Given the description of an element on the screen output the (x, y) to click on. 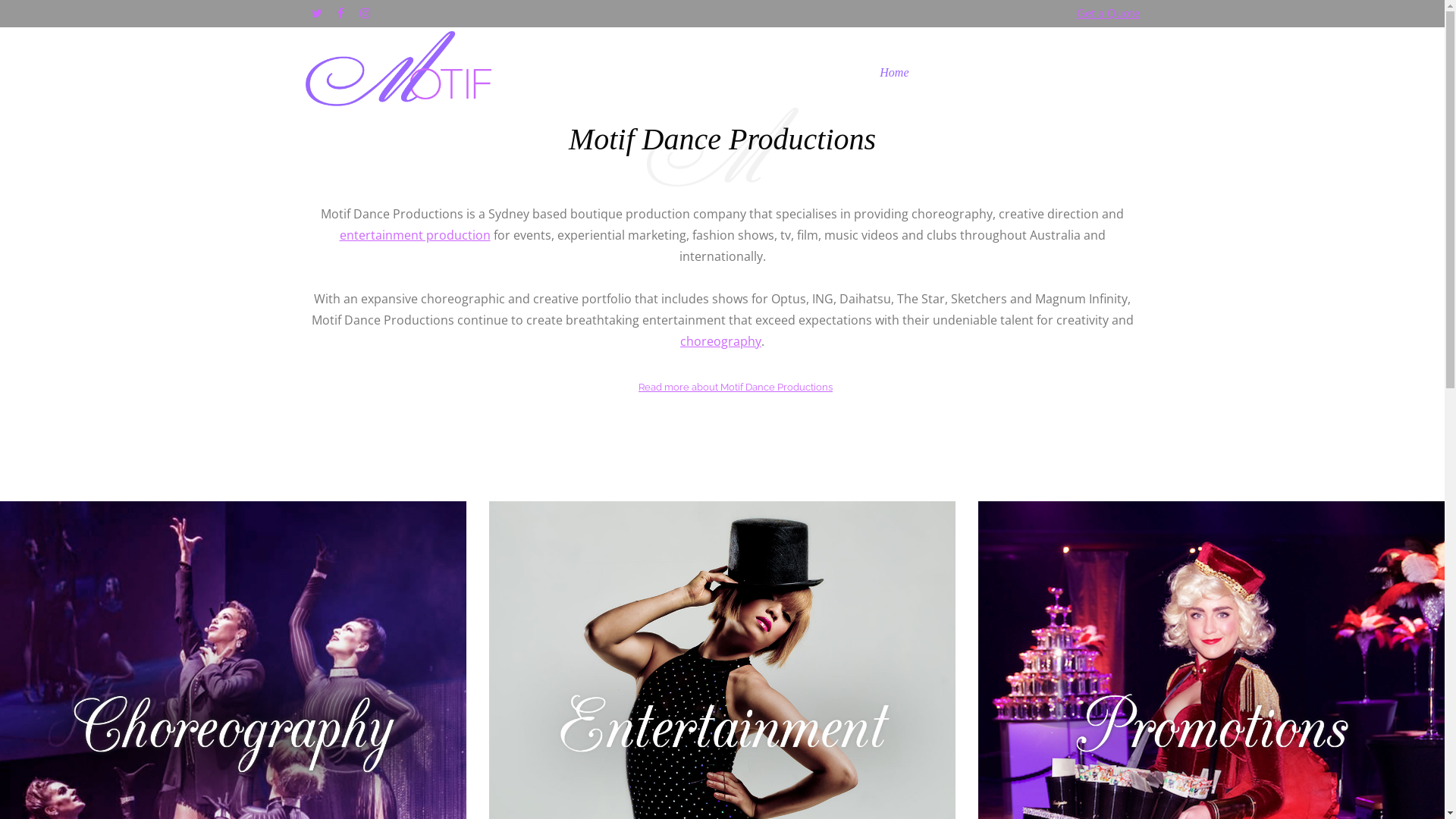
Services Element type: text (1018, 72)
Read more about Motif Dance Productions Element type: text (735, 387)
Home Element type: text (893, 72)
About Element type: text (953, 72)
Contact Us Element type: text (1096, 72)
choreography Element type: text (720, 340)
entertainment production Element type: text (414, 234)
Get a Quote Element type: text (1107, 12)
